Given the description of an element on the screen output the (x, y) to click on. 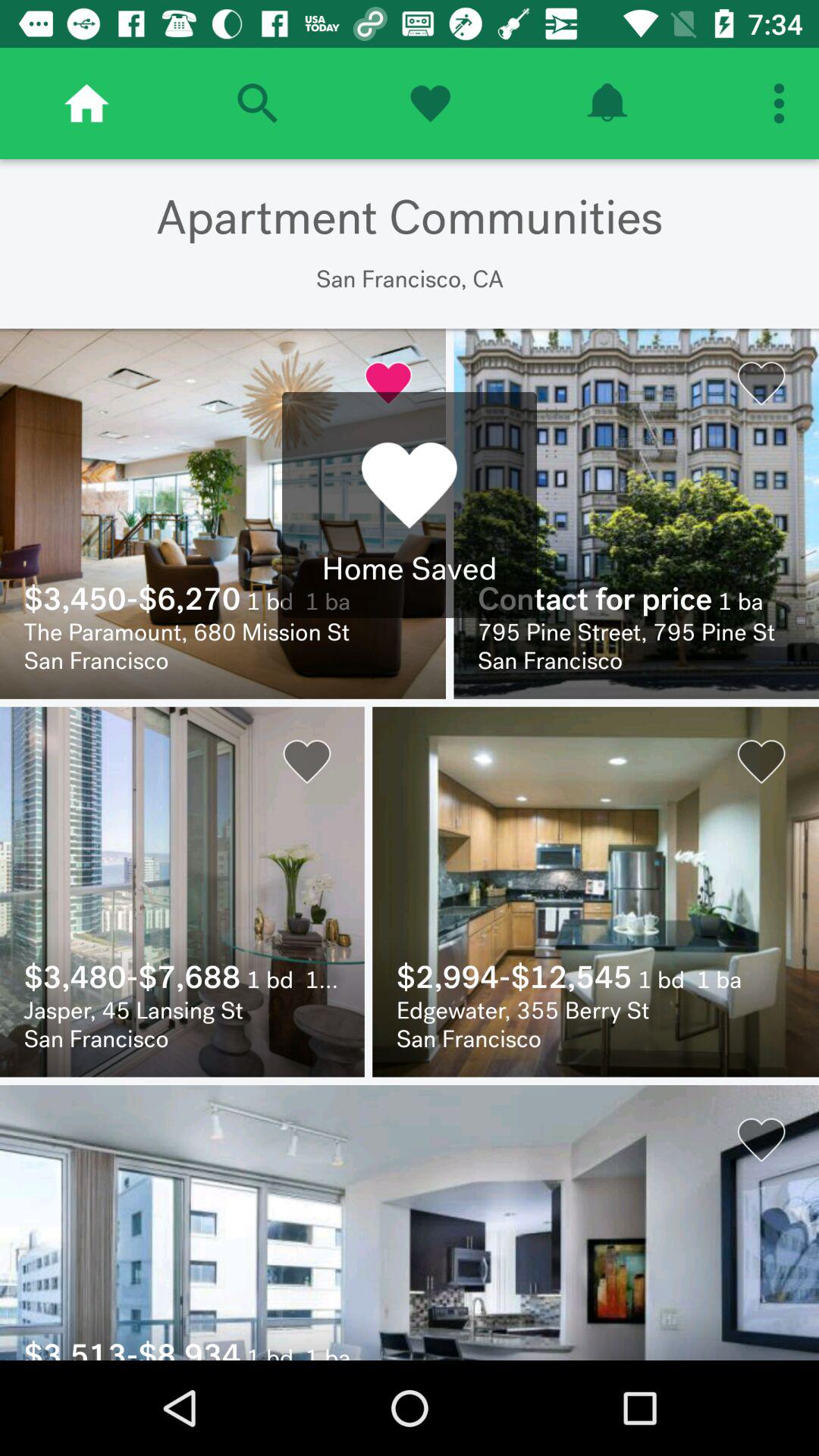
view notifications (606, 103)
